Given the description of an element on the screen output the (x, y) to click on. 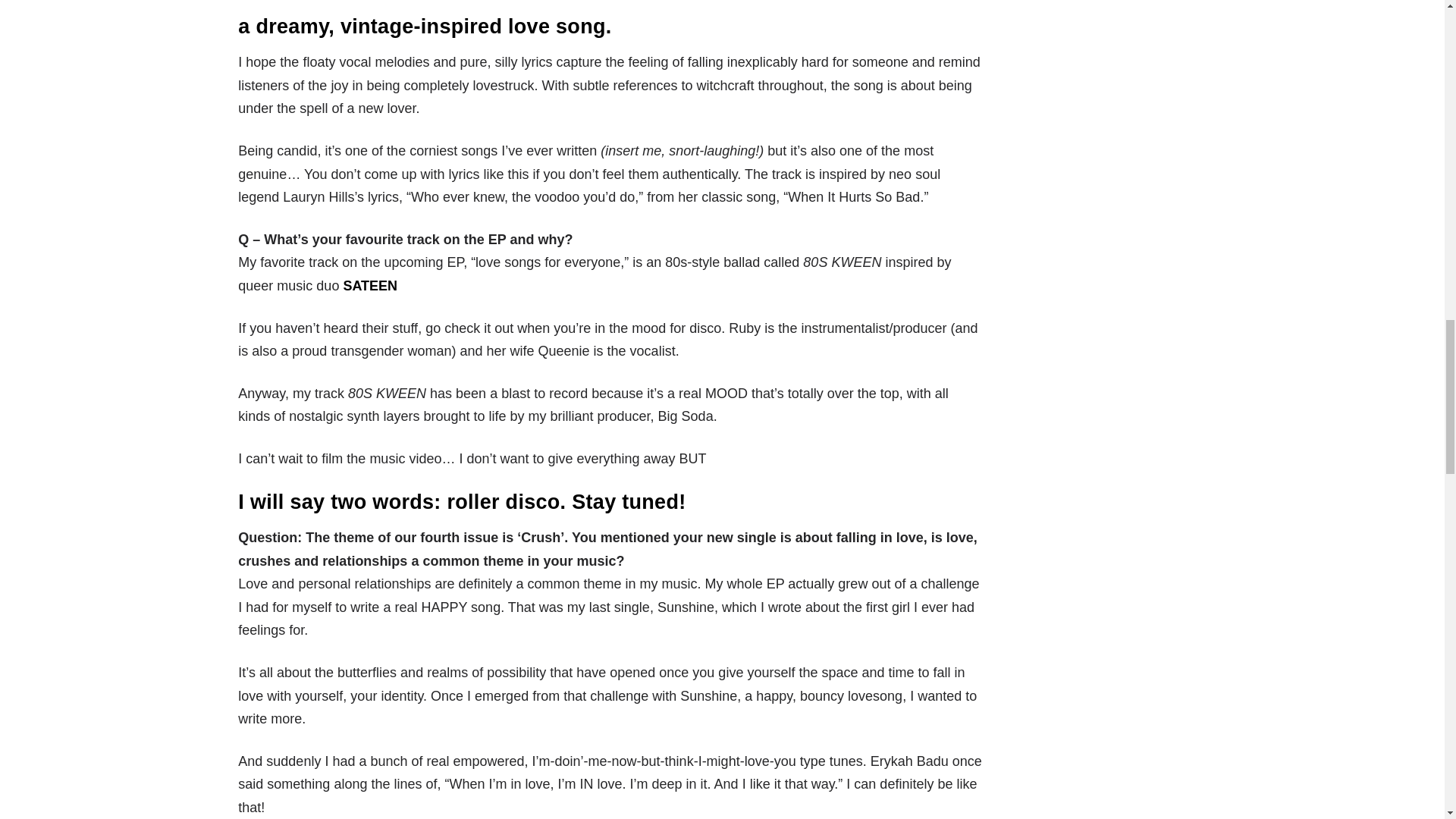
SATEEN (369, 285)
